Given the description of an element on the screen output the (x, y) to click on. 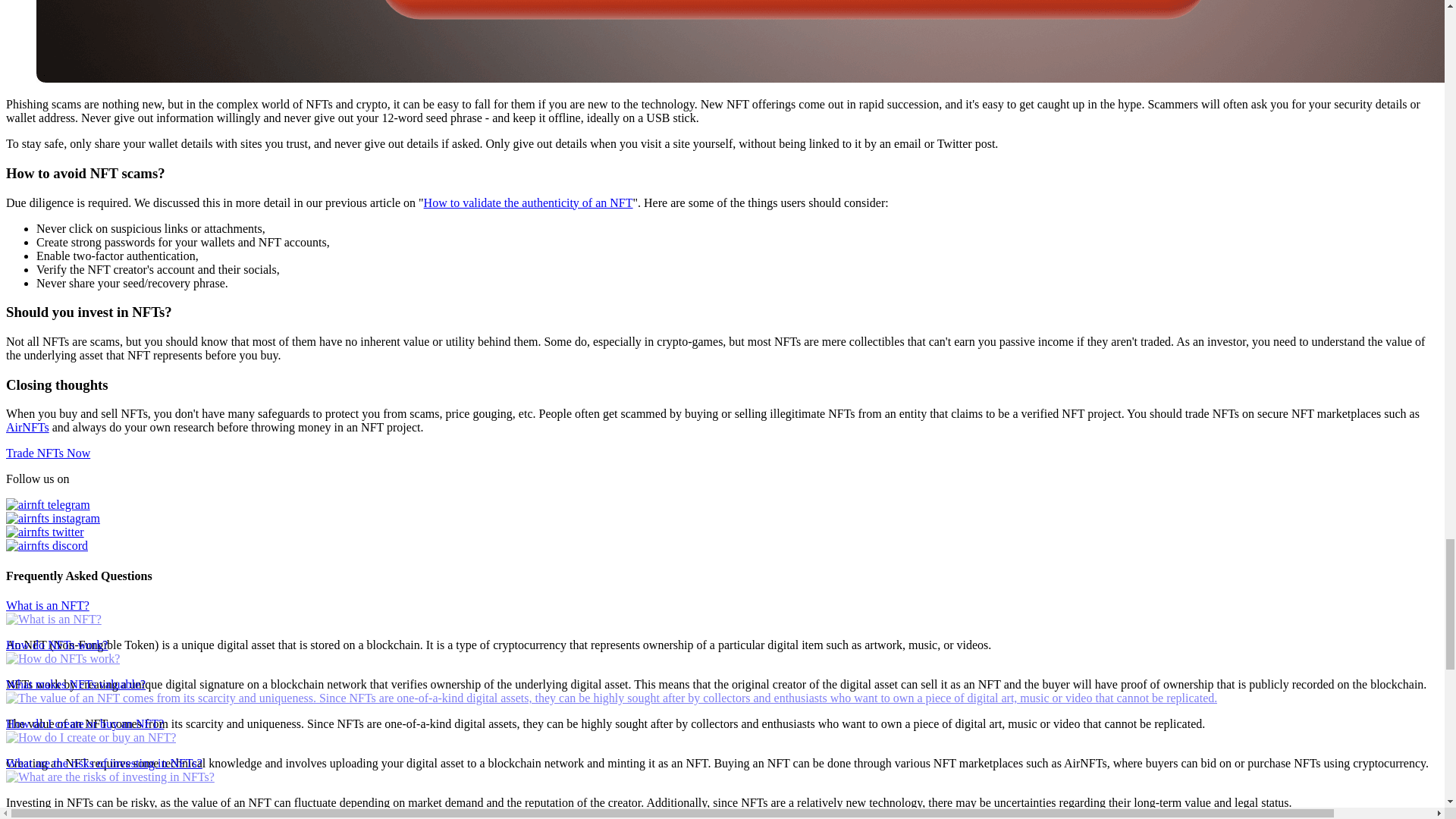
How do NFTs work? (721, 651)
AirNFTs (27, 427)
What is an NFT? (721, 611)
Trade NFTs Now (47, 452)
What makes NFTs valuable? (721, 691)
How to validate the authenticity of an NFT (528, 202)
What are the risks of investing in NFTs? (721, 769)
How do I create or buy an NFT? (721, 730)
